Given the description of an element on the screen output the (x, y) to click on. 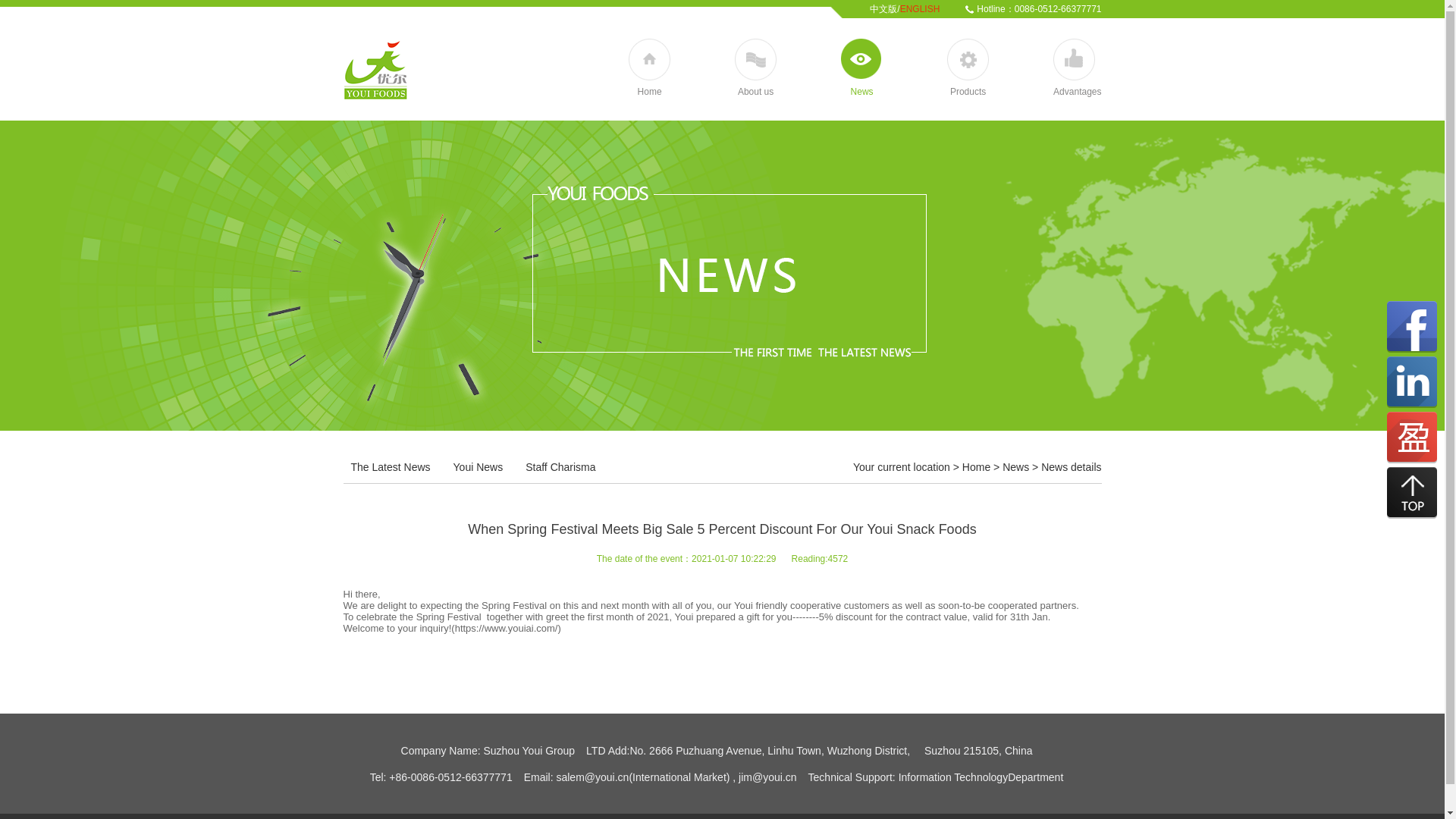
News (1016, 467)
Home (976, 467)
Staff Charisma (560, 466)
ENGLISH (919, 9)
The Latest News (390, 466)
Youi News (478, 466)
